Given the description of an element on the screen output the (x, y) to click on. 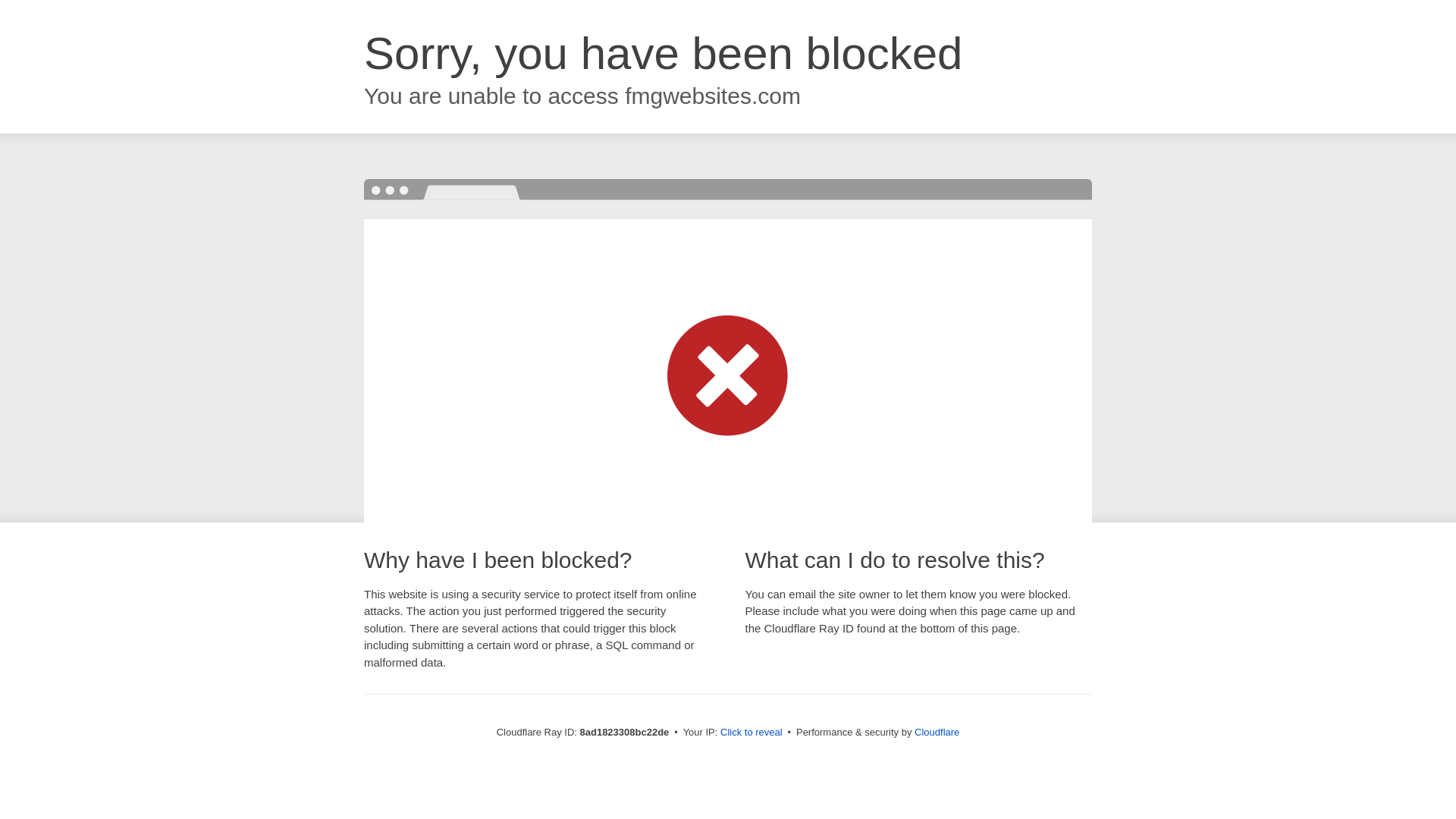
Cloudflare (936, 731)
Click to reveal (751, 732)
